Given the description of an element on the screen output the (x, y) to click on. 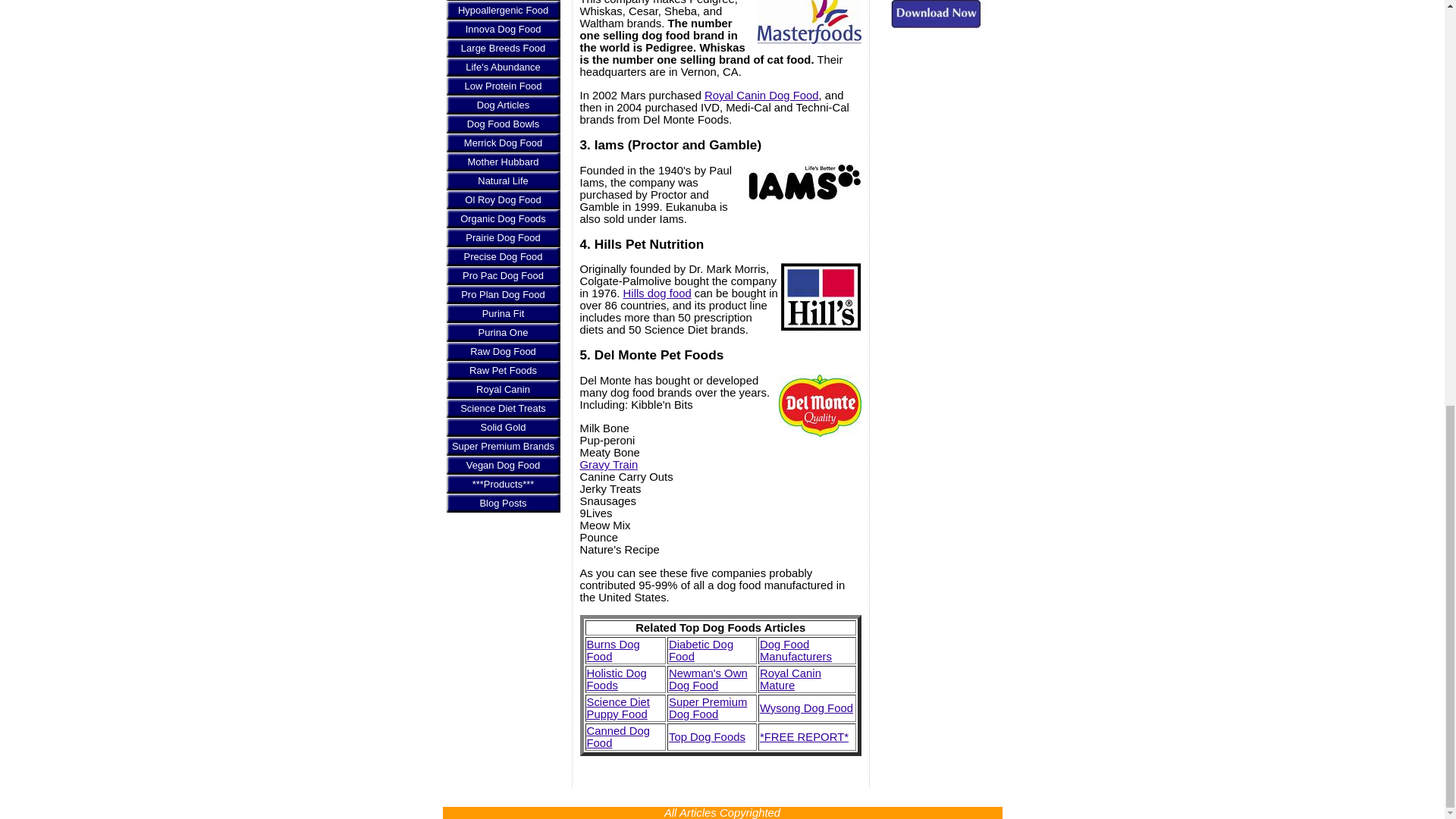
Royal Canin Dog Food (761, 95)
Diabetic Dog Food (700, 650)
Wysong Dog Food (806, 707)
Holistic Dog Foods (616, 679)
Science Diet Puppy Food (618, 708)
Top Dog Foods (706, 736)
Burns Dog Food (613, 650)
Dog Food Manufacturers (795, 650)
Super Premium Dog Food (707, 708)
Canned Dog Food (618, 736)
